Given the description of an element on the screen output the (x, y) to click on. 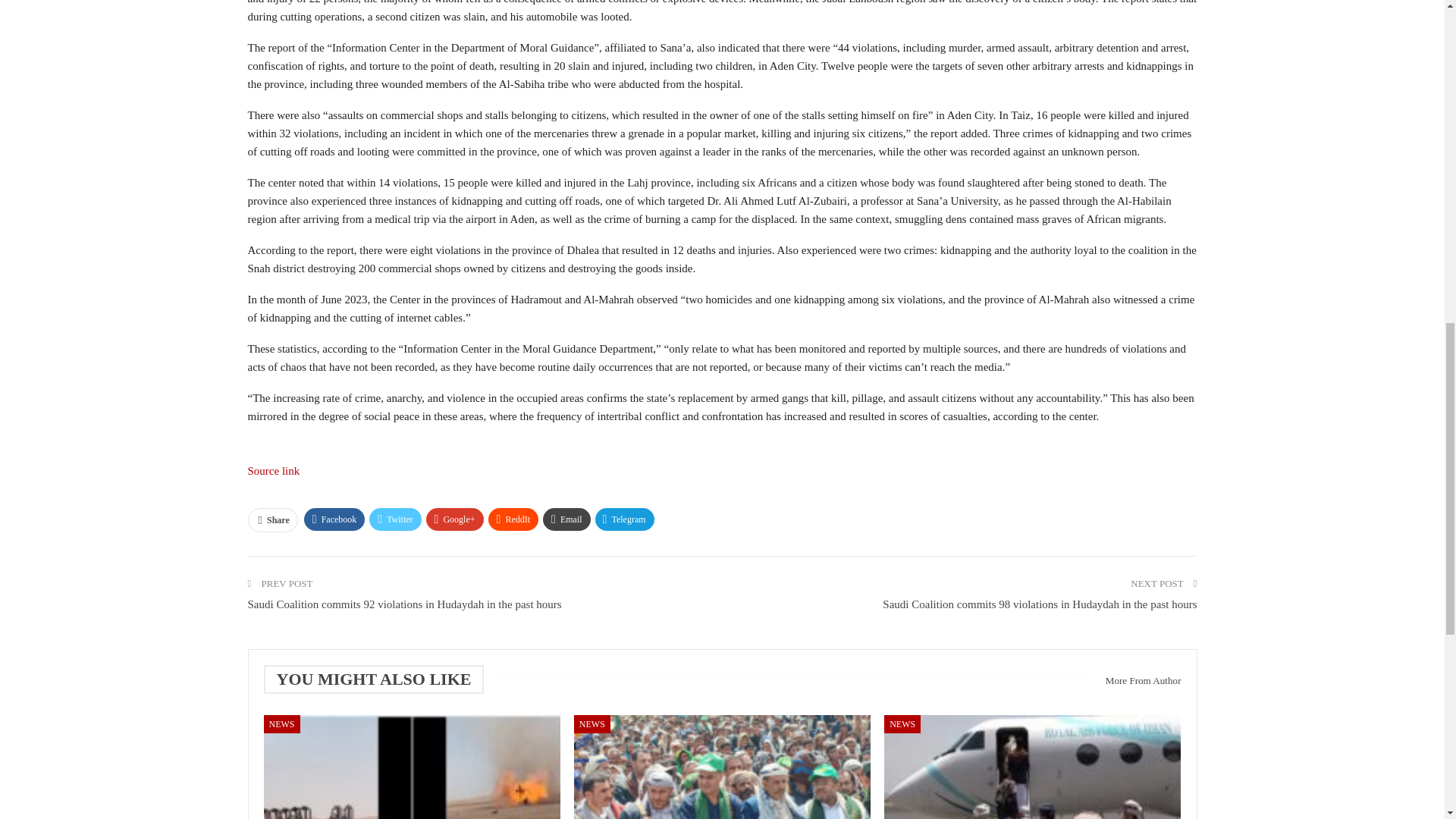
Source link (273, 470)
The start of oil and gas wells burning in northeastern Yemen (411, 766)
